Given the description of an element on the screen output the (x, y) to click on. 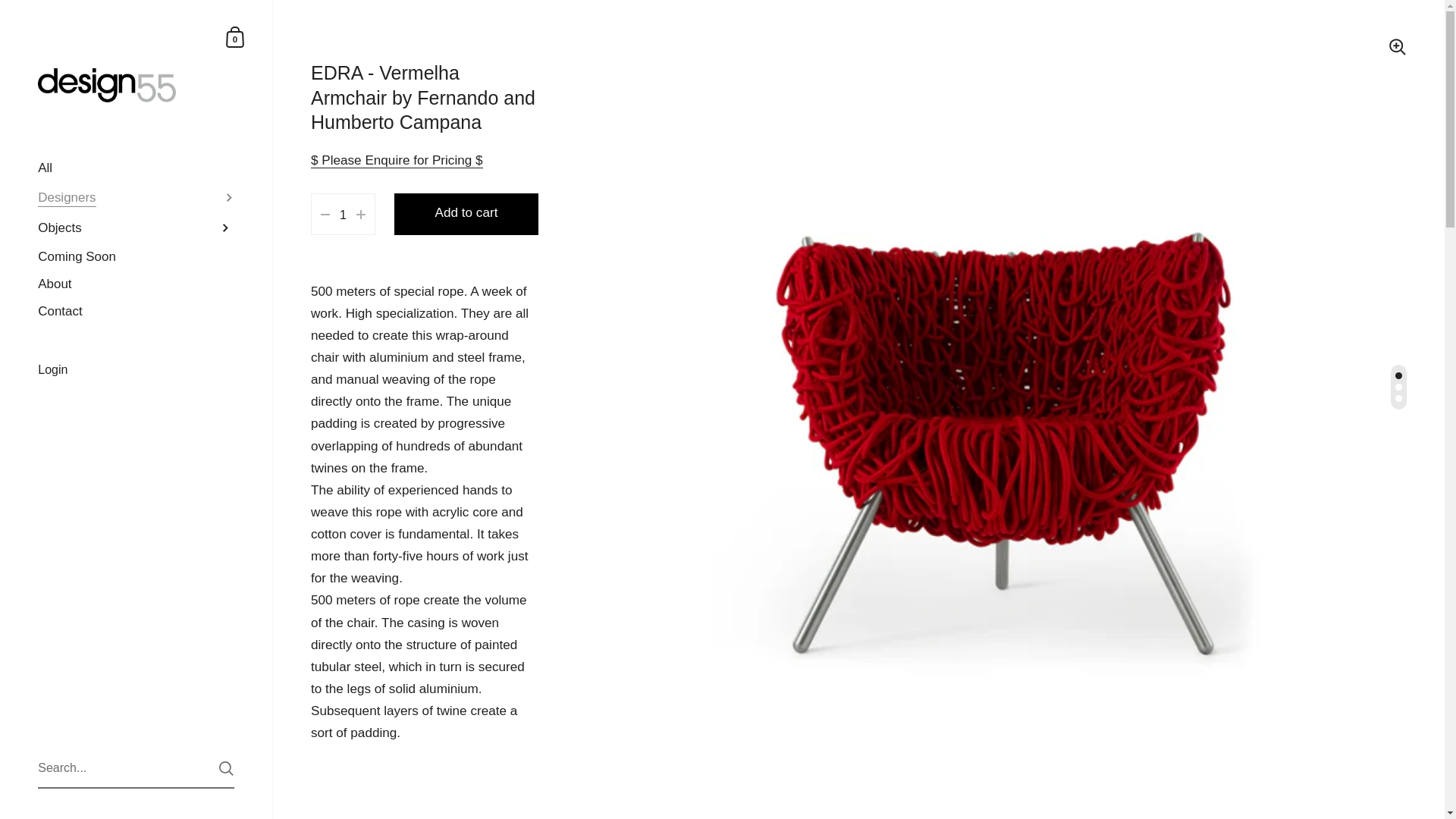
About (136, 284)
0 (235, 35)
Designers (136, 197)
Coming Soon (136, 257)
Login (136, 370)
Add to cart (466, 214)
Objects (136, 227)
Shopping Cart (235, 35)
1 (342, 214)
Contact (136, 311)
